Given the description of an element on the screen output the (x, y) to click on. 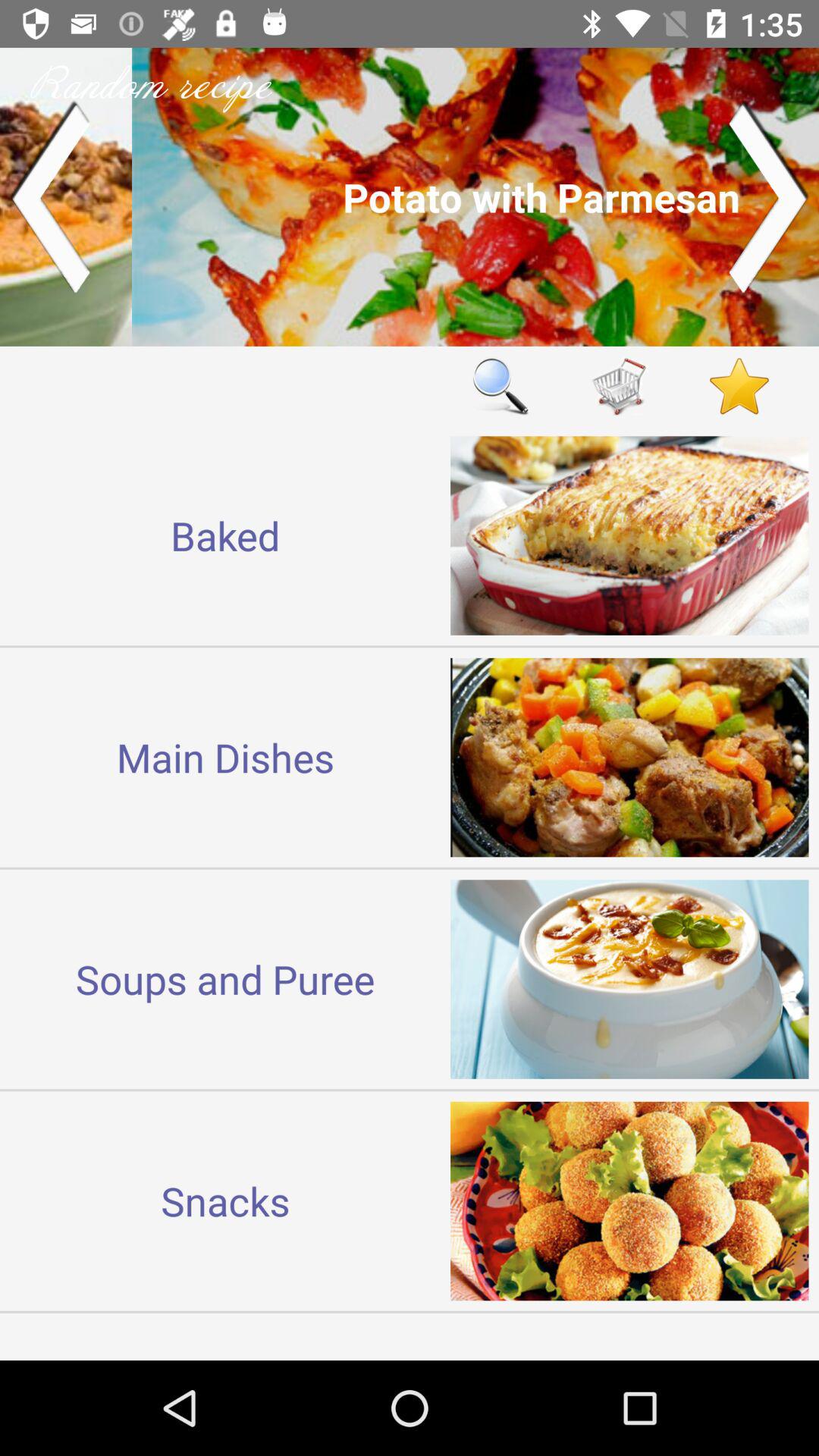
select baked item (225, 534)
